Given the description of an element on the screen output the (x, y) to click on. 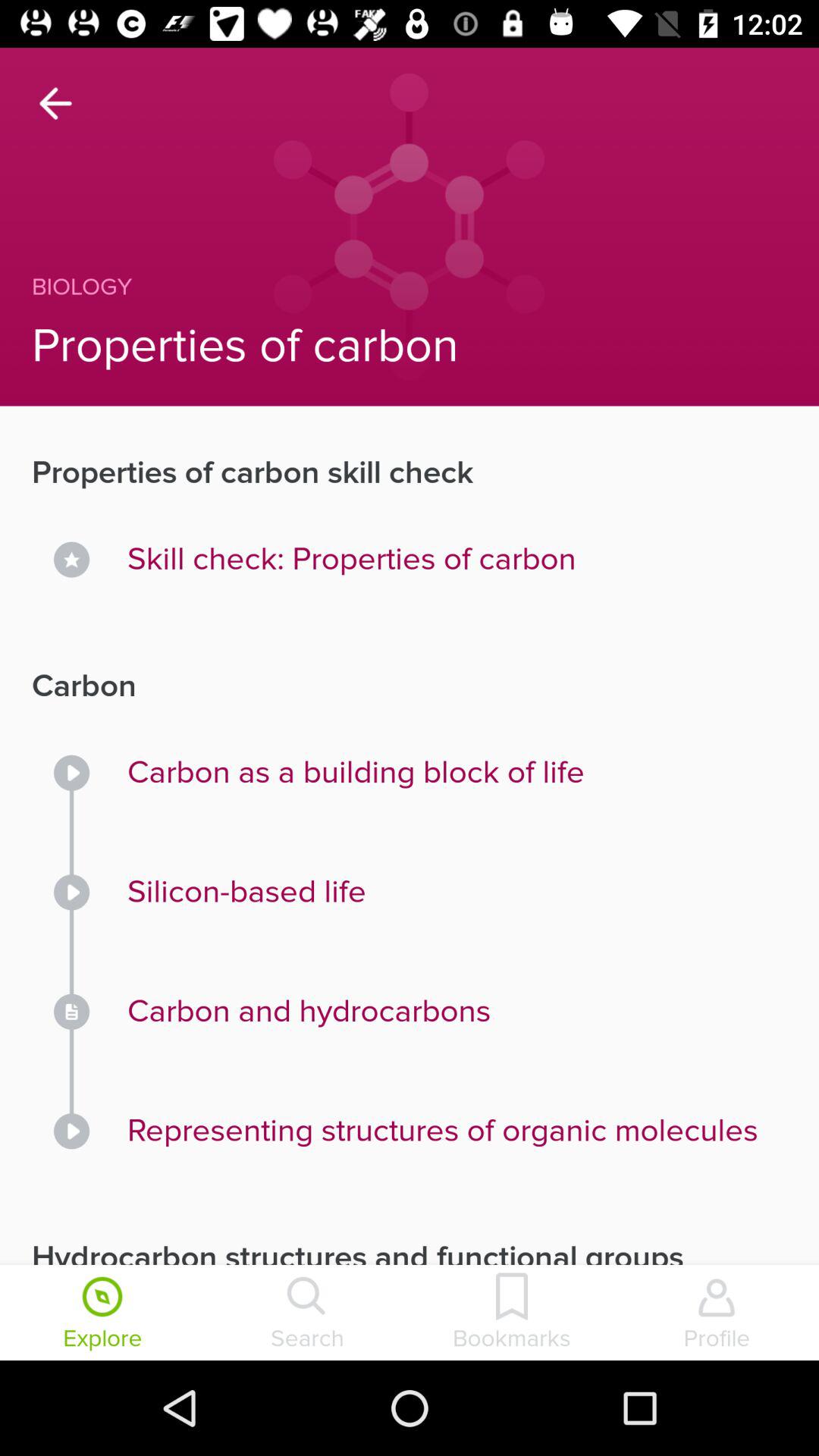
launch icon to the right of the explore (306, 1314)
